Given the description of an element on the screen output the (x, y) to click on. 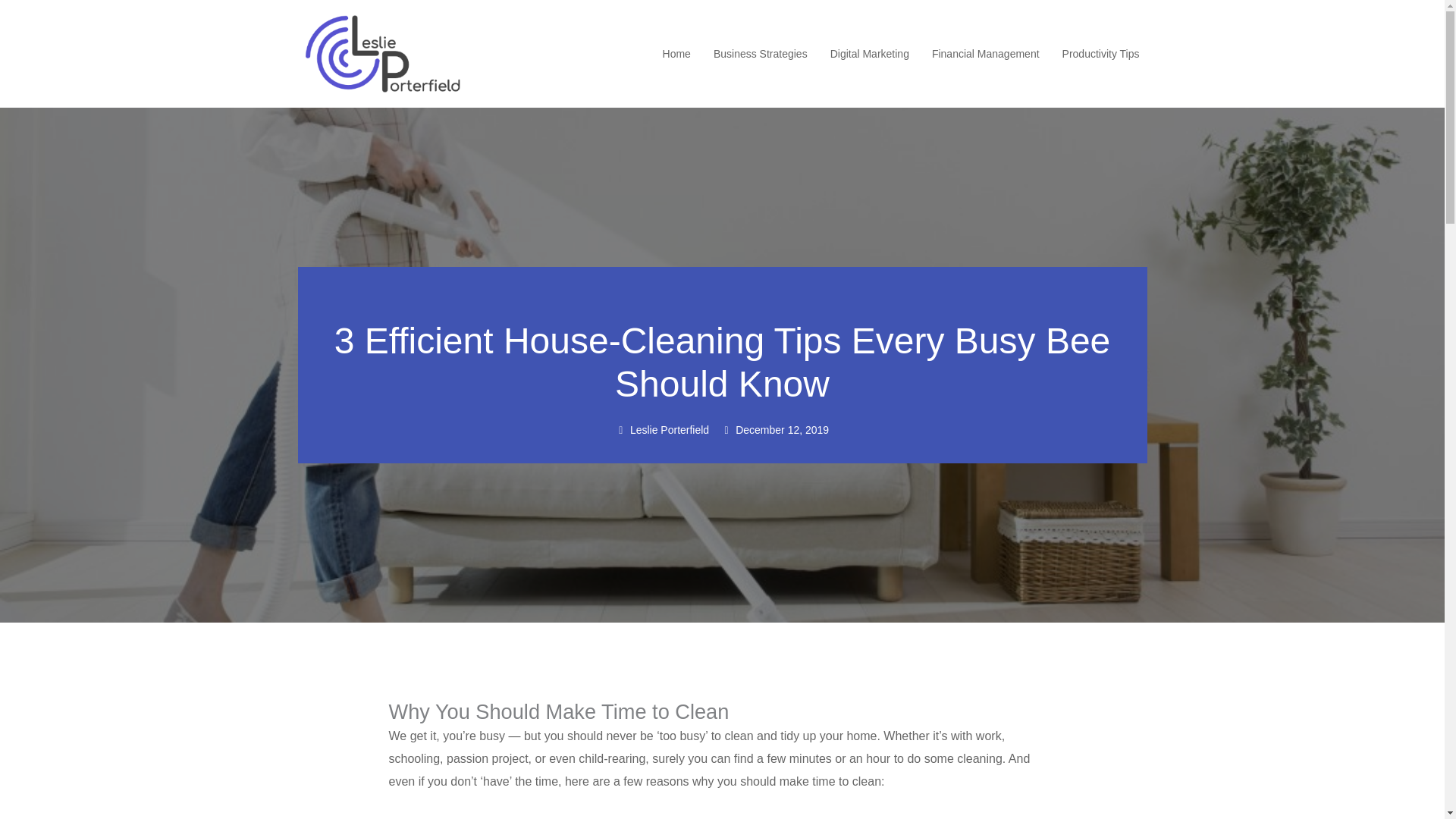
Financial Management (985, 53)
UNCATEGORIZED (722, 295)
Home (676, 53)
Productivity Tips (1101, 53)
Business Strategies (760, 53)
December 12, 2019 (774, 430)
Digital Marketing (868, 53)
Leslie Porterfield (662, 430)
